Given the description of an element on the screen output the (x, y) to click on. 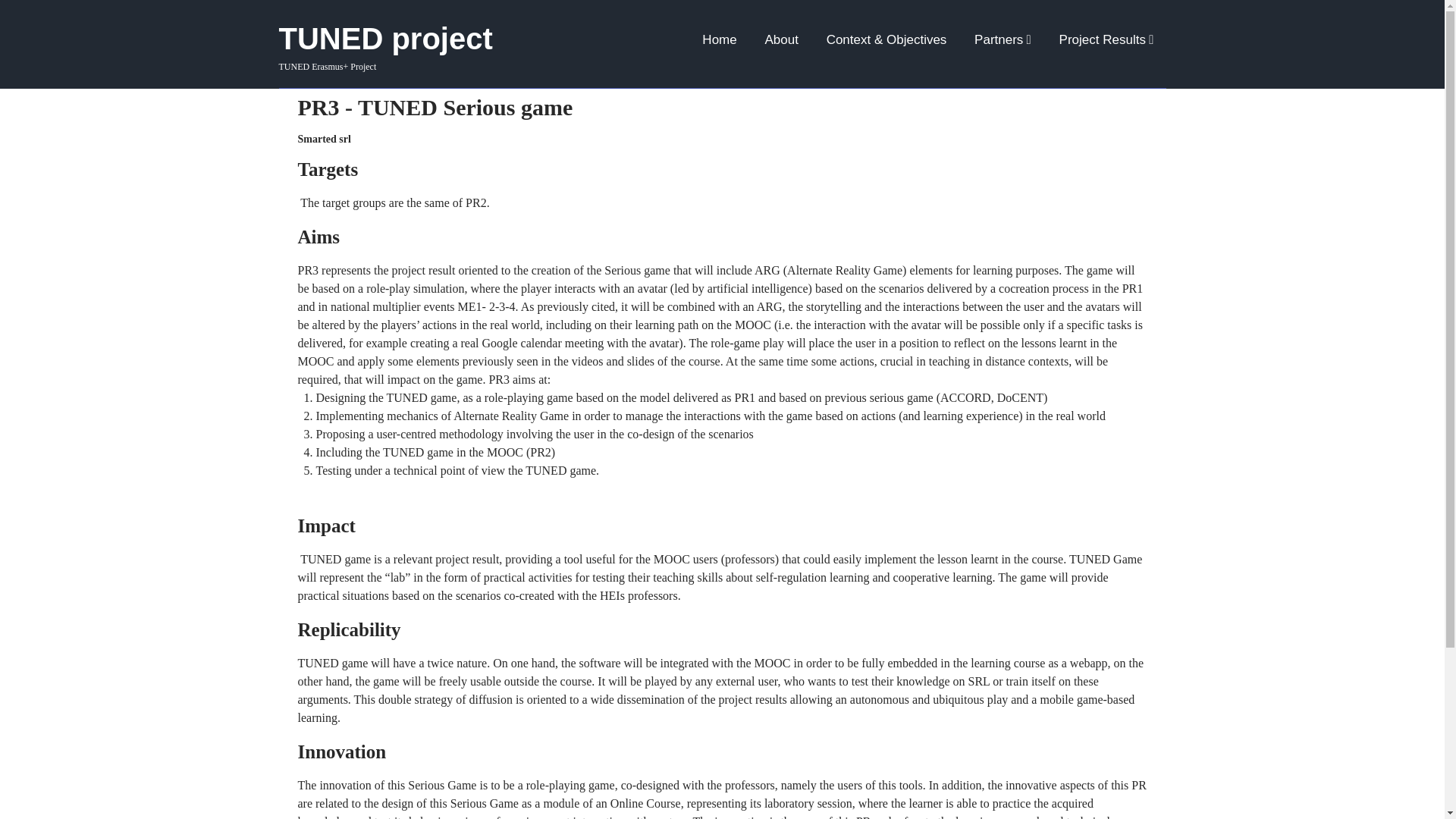
Partners (1002, 39)
Project Results (1106, 39)
About (781, 39)
Home (719, 39)
